Given the description of an element on the screen output the (x, y) to click on. 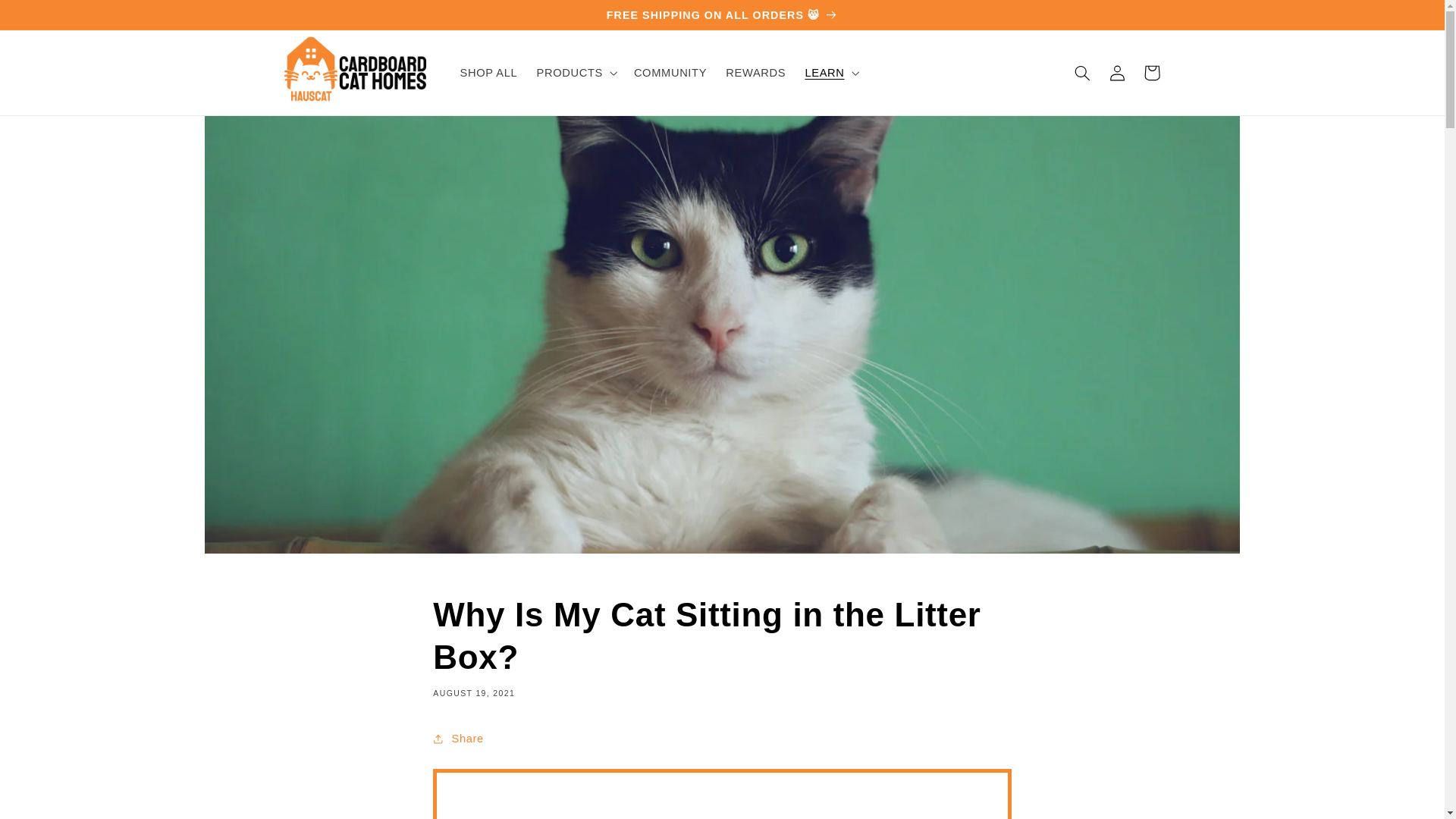
Skip to content (48, 18)
SHOP ALL (488, 72)
COMMUNITY (670, 72)
REWARDS (755, 72)
